Given the description of an element on the screen output the (x, y) to click on. 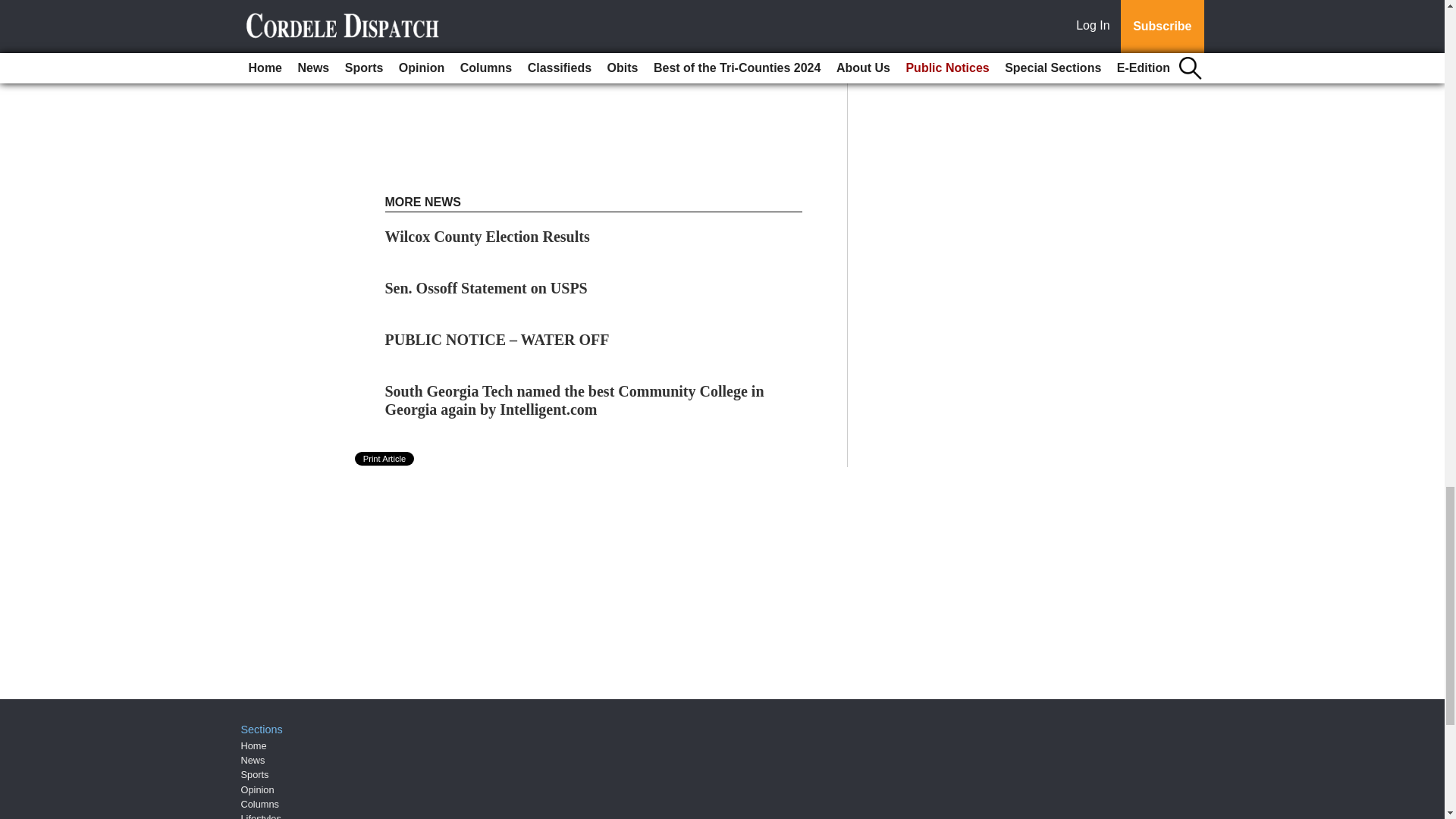
Sen. Ossoff Statement on USPS (486, 288)
Sen. Ossoff Statement on USPS (486, 288)
Wilcox County Election Results (487, 236)
Columns (260, 803)
Sports (255, 774)
Opinion (258, 789)
Lifestyles (261, 816)
Print Article (384, 459)
Home (253, 745)
Wilcox County Election Results (487, 236)
News (252, 759)
